Given the description of an element on the screen output the (x, y) to click on. 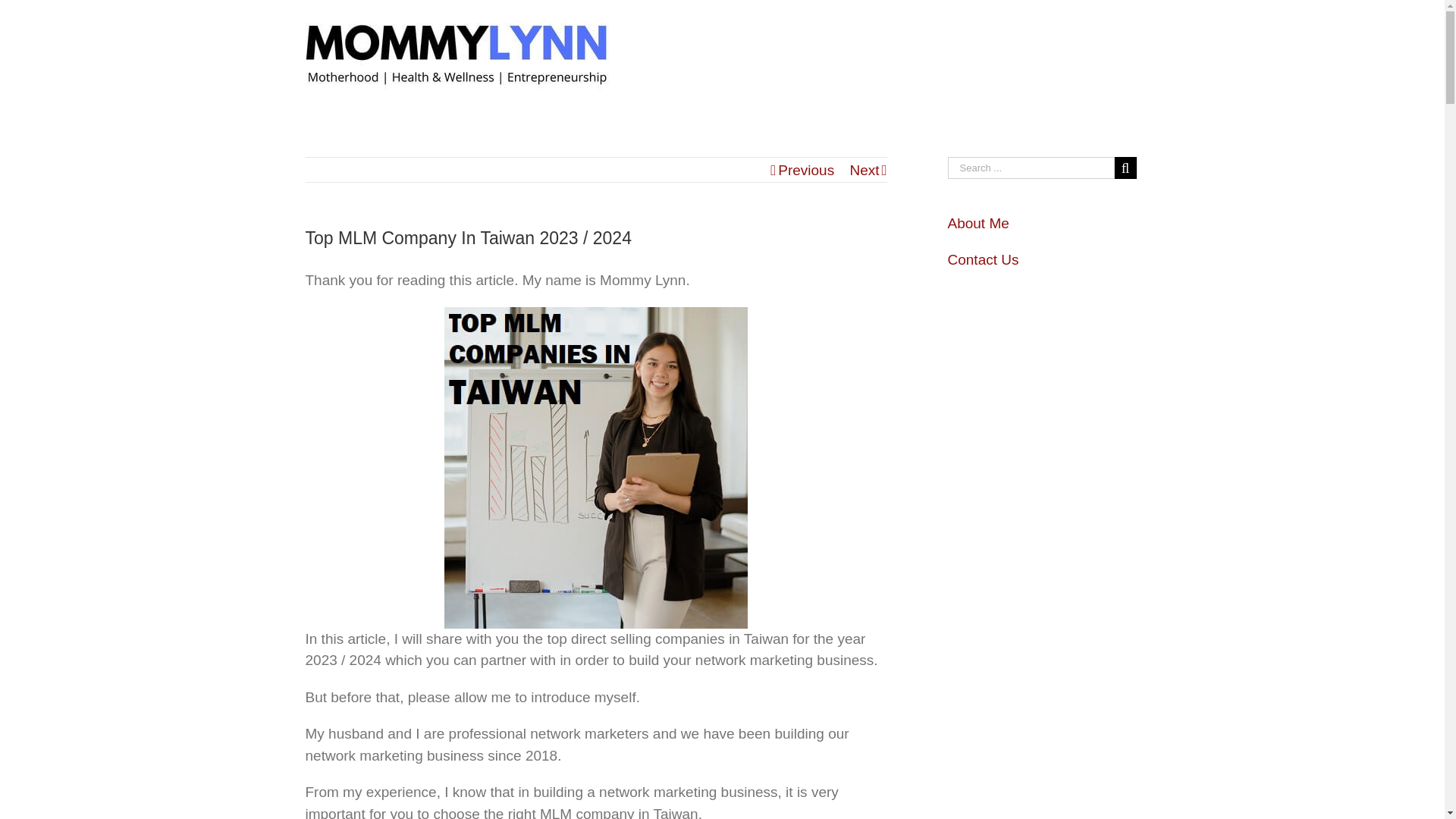
About Me (978, 222)
Next (863, 170)
Contact Us (983, 259)
Previous (805, 170)
